Given the description of an element on the screen output the (x, y) to click on. 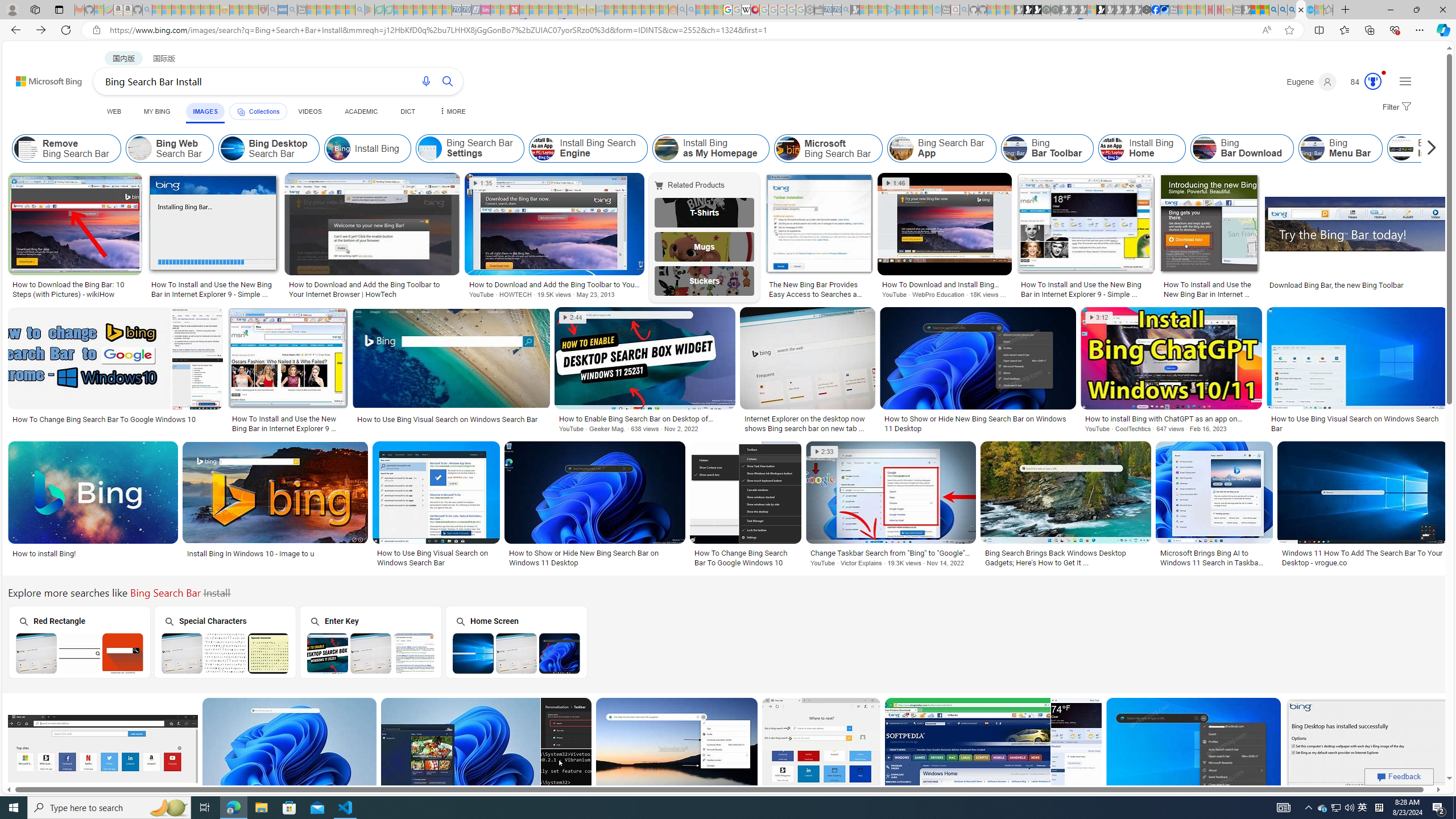
Bing Search Bar Settings (470, 148)
Bing Mugs (704, 246)
